Given the description of an element on the screen output the (x, y) to click on. 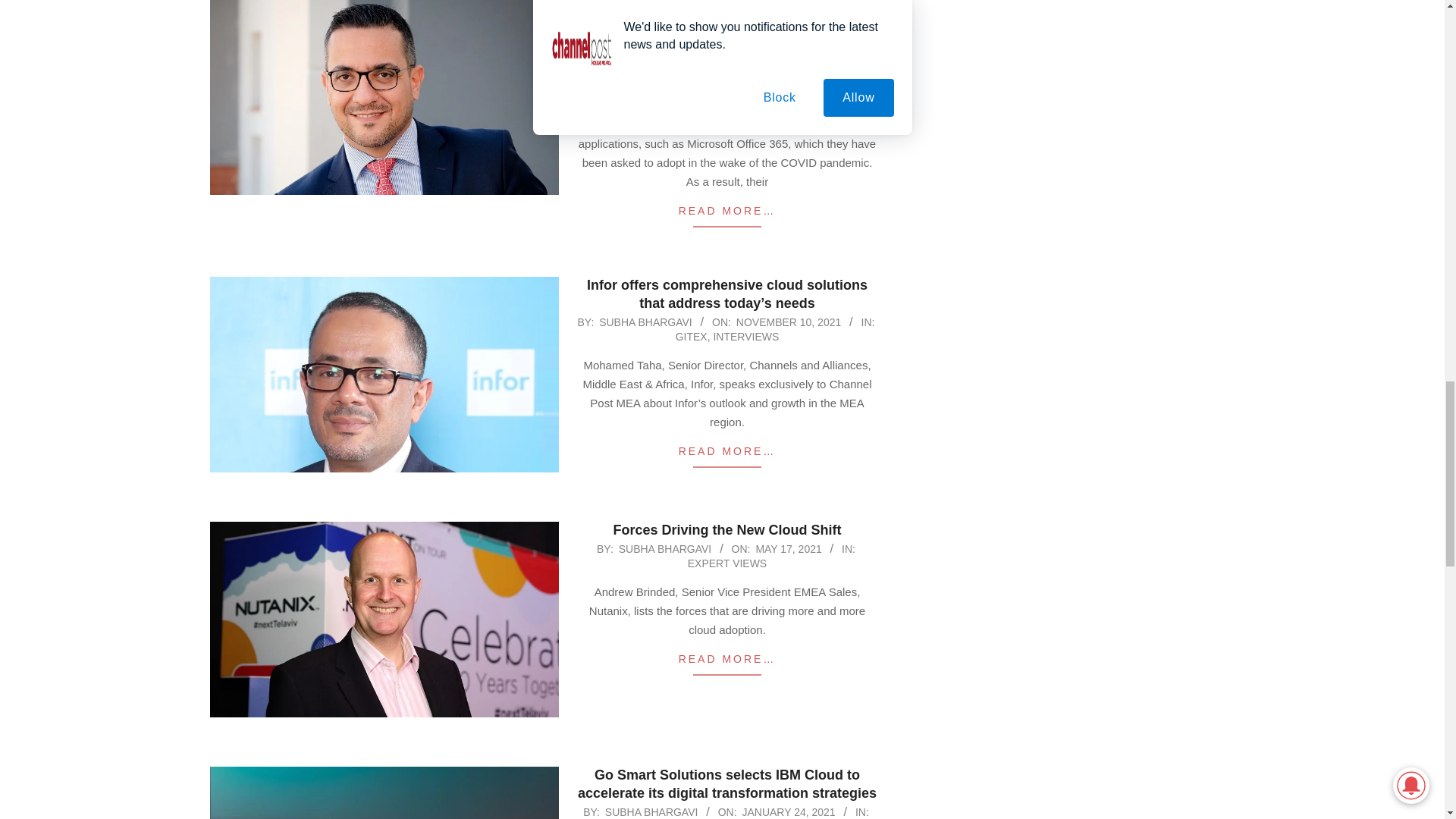
Thursday, November 18, 2021, 11:49 am (788, 43)
Posts by Subha Bhargavi (645, 43)
Monday, May 17, 2021, 11:50 am (788, 548)
Posts by Subha Bhargavi (645, 322)
Wednesday, November 10, 2021, 12:35 pm (788, 322)
Posts by Subha Bhargavi (664, 548)
